Given the description of an element on the screen output the (x, y) to click on. 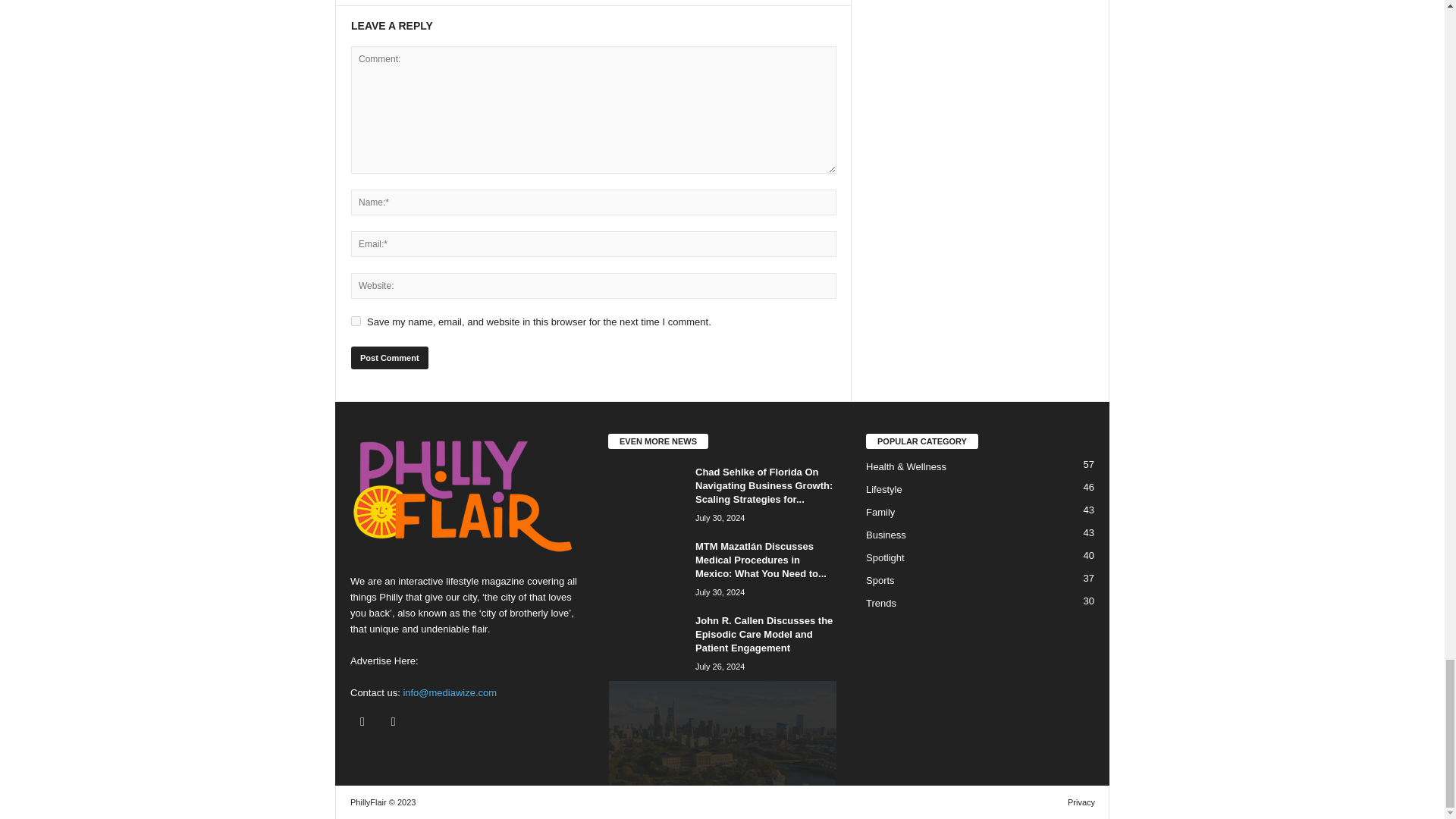
Post Comment (389, 357)
yes (355, 320)
